Given the description of an element on the screen output the (x, y) to click on. 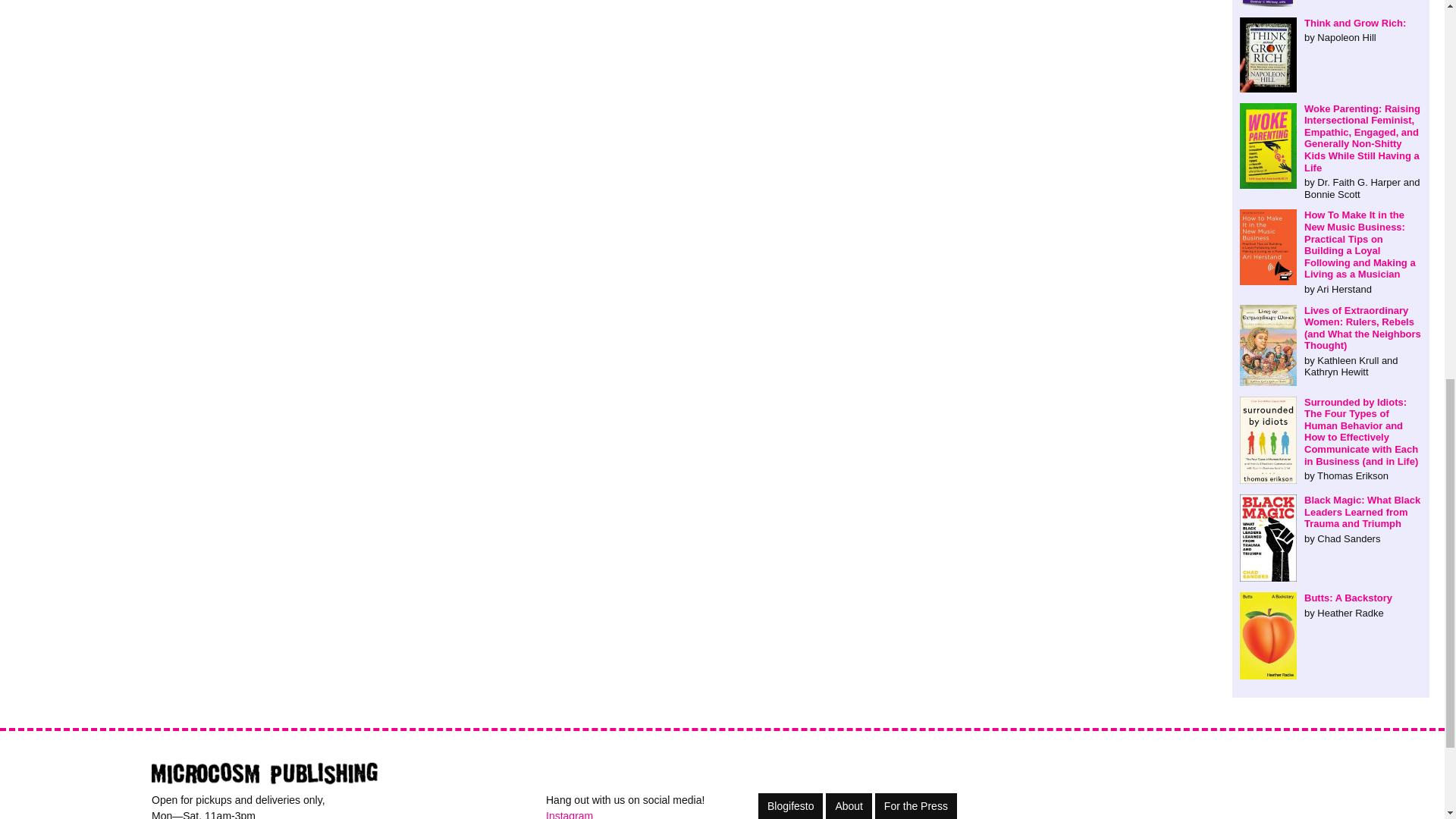
Butts: A Backstory (1331, 605)
Think and Grow Rich: (1331, 30)
